Given the description of an element on the screen output the (x, y) to click on. 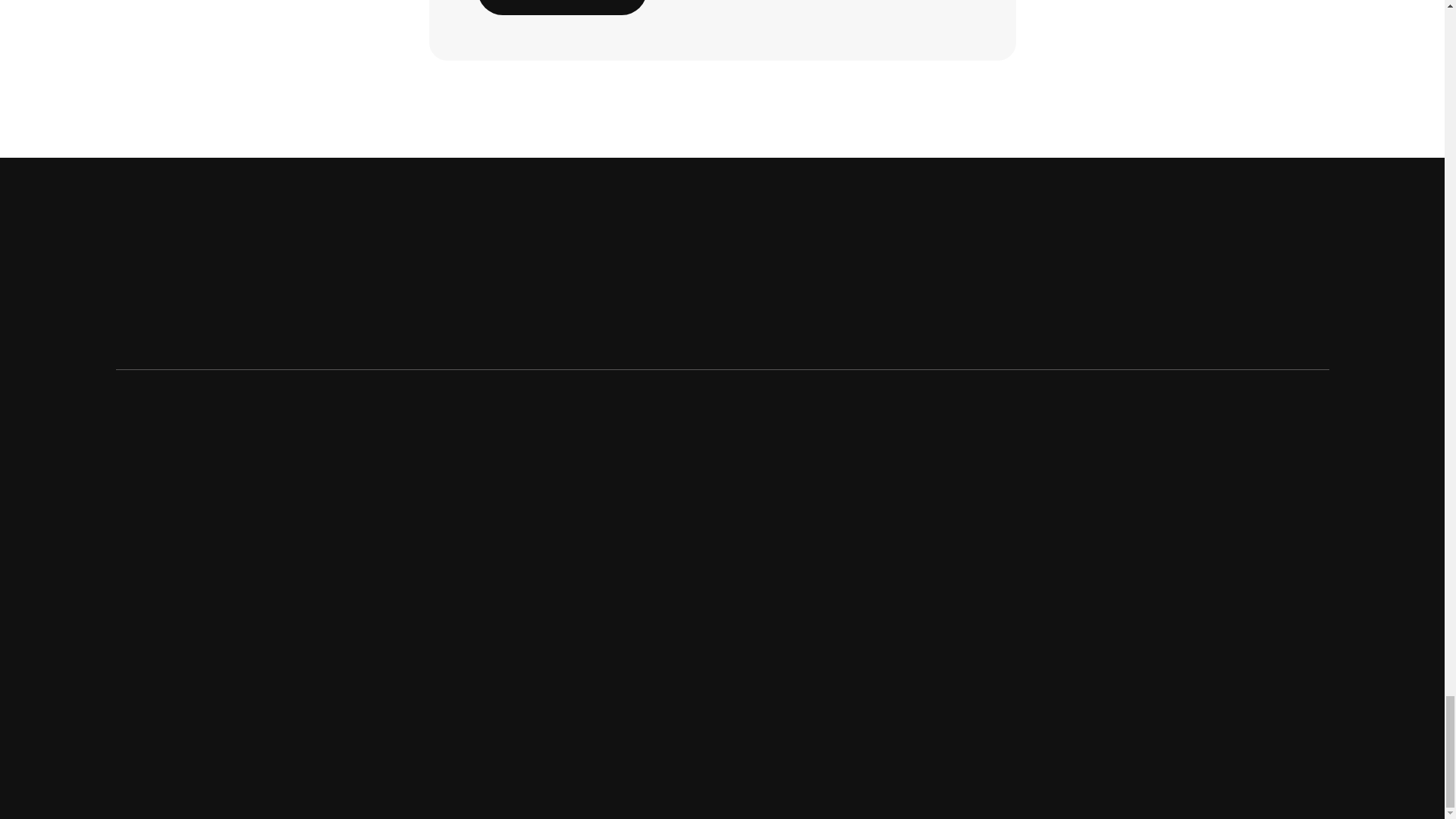
Post Comment (561, 7)
Post Comment (561, 7)
